Given the description of an element on the screen output the (x, y) to click on. 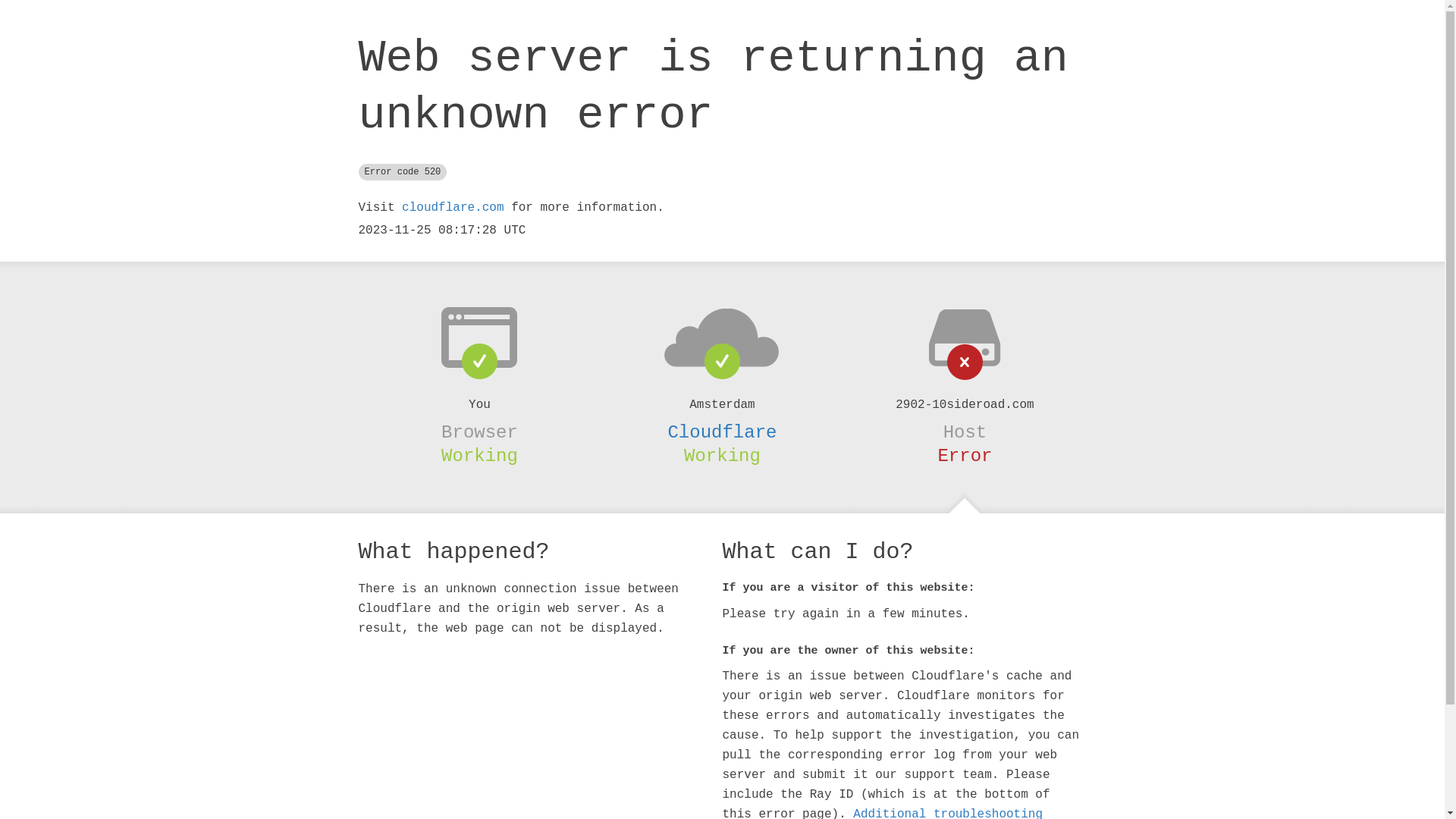
cloudflare.com Element type: text (452, 207)
Cloudflare Element type: text (721, 432)
